Given the description of an element on the screen output the (x, y) to click on. 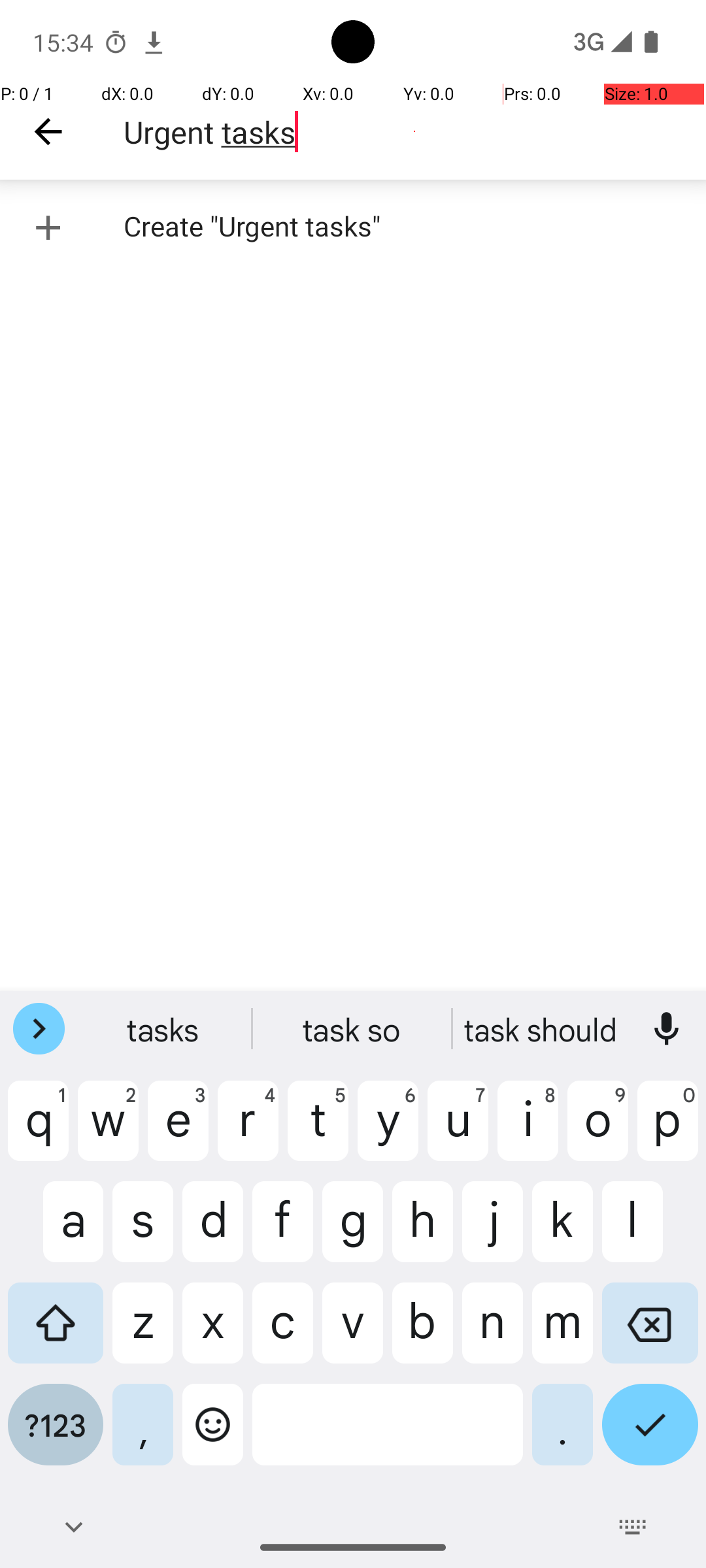
Urgent tasks Element type: android.widget.EditText (414, 131)
Create "Urgent tasks" Element type: android.widget.TextView (353, 227)
task Element type: android.widget.FrameLayout (163, 1028)
tasks Element type: android.widget.FrameLayout (352, 1028)
tasking Element type: android.widget.FrameLayout (541, 1028)
